Given the description of an element on the screen output the (x, y) to click on. 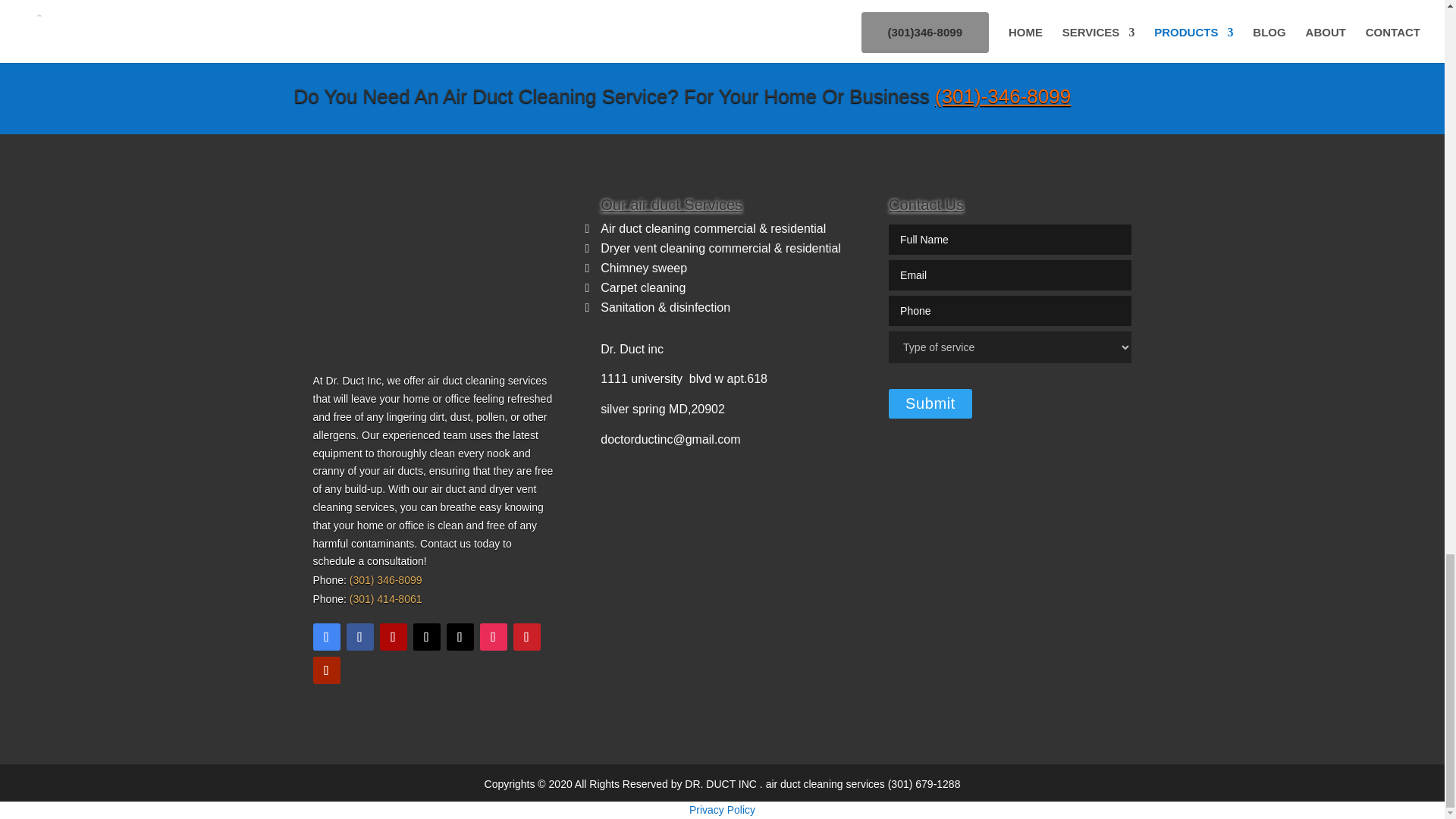
Submit (930, 403)
Follow on Facebook (359, 636)
Dr. Duct inc (631, 349)
Carpet cleaning (642, 287)
Follow on Instagram (492, 636)
Follow on Google (326, 636)
air duct cleaning services (826, 784)
Privacy Policy (721, 809)
1111 university  blvd w apt.618 (683, 378)
Follow on Yelp (392, 636)
